Given the description of an element on the screen output the (x, y) to click on. 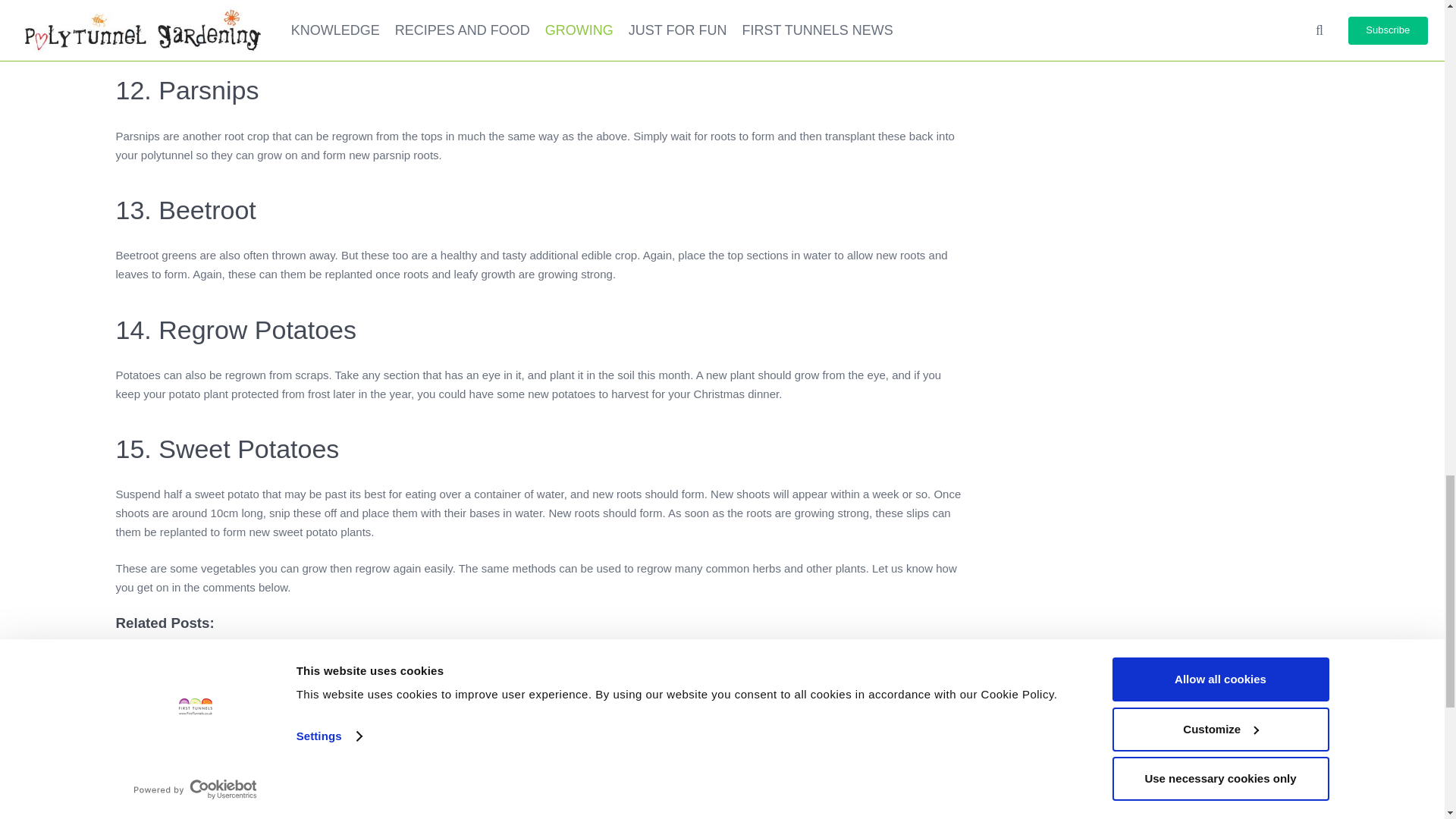
Ideas For Making The Most of a Plum Harvest (266, 646)
How To Store Pumpkins and Squash Over Winter (276, 671)
What Are Trap Crops and How Do You Use Them? (278, 720)
What To Do With Vegetable Scraps (237, 696)
Share this (221, 756)
Tweet this (178, 756)
Share this (135, 756)
